Given the description of an element on the screen output the (x, y) to click on. 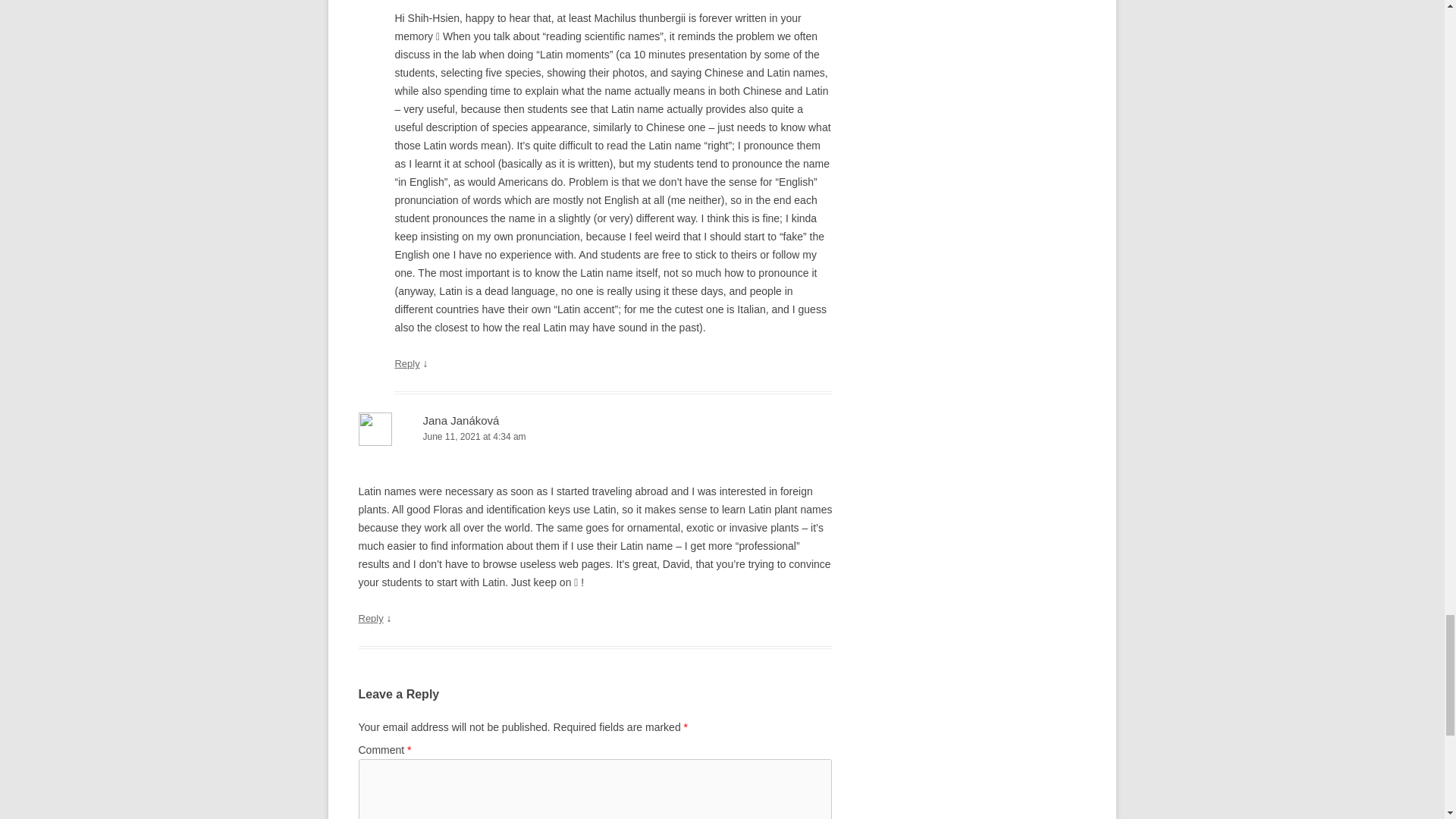
Reply (370, 618)
Reply (406, 363)
June 11, 2021 at 4:34 am (594, 437)
